Given the description of an element on the screen output the (x, y) to click on. 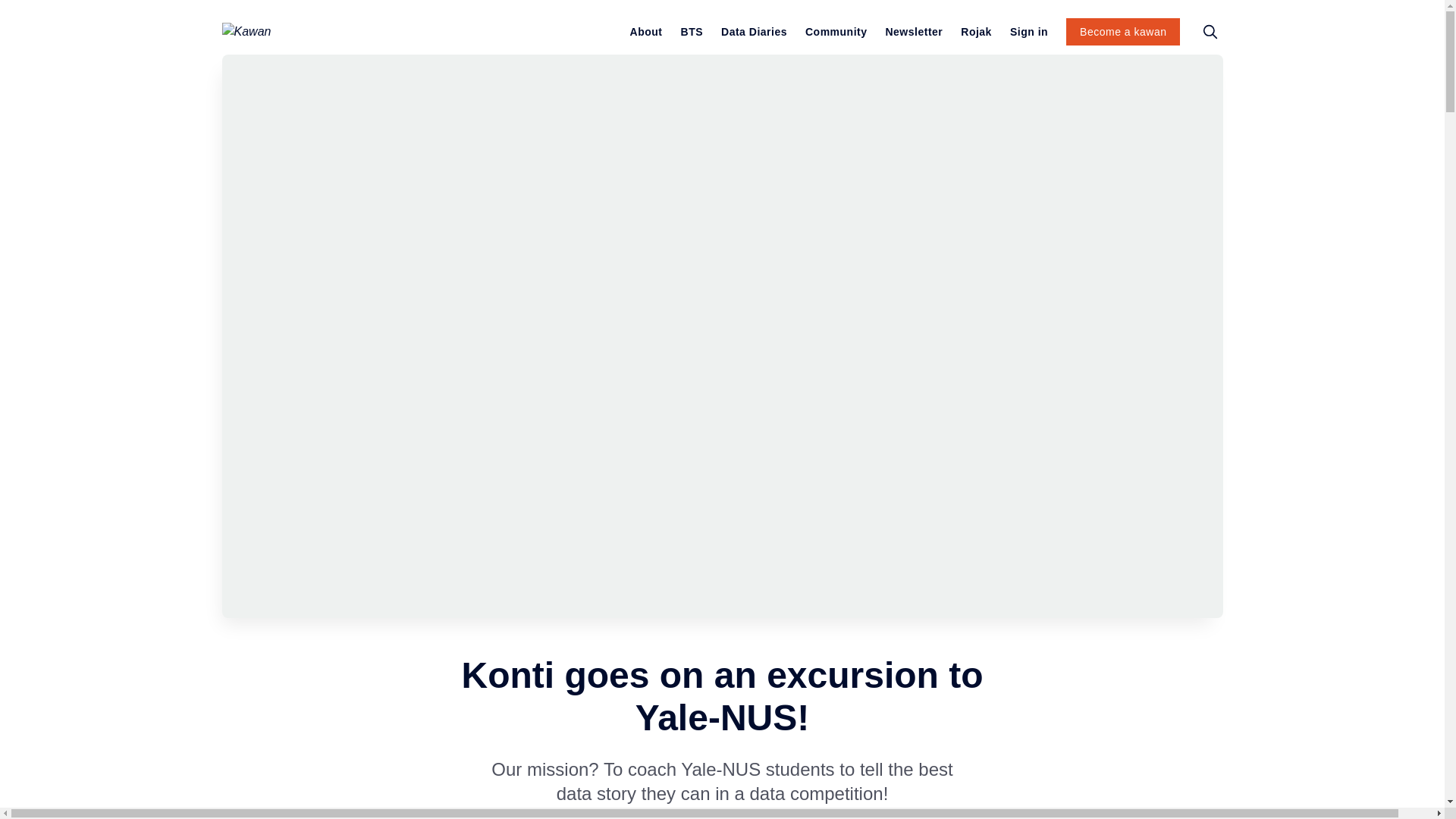
BTS (692, 32)
Sign in (1029, 32)
Rojak (975, 32)
Data Diaries (753, 32)
Newsletter (913, 32)
Become a kawan (1122, 31)
Community (836, 32)
About (646, 32)
